Given the description of an element on the screen output the (x, y) to click on. 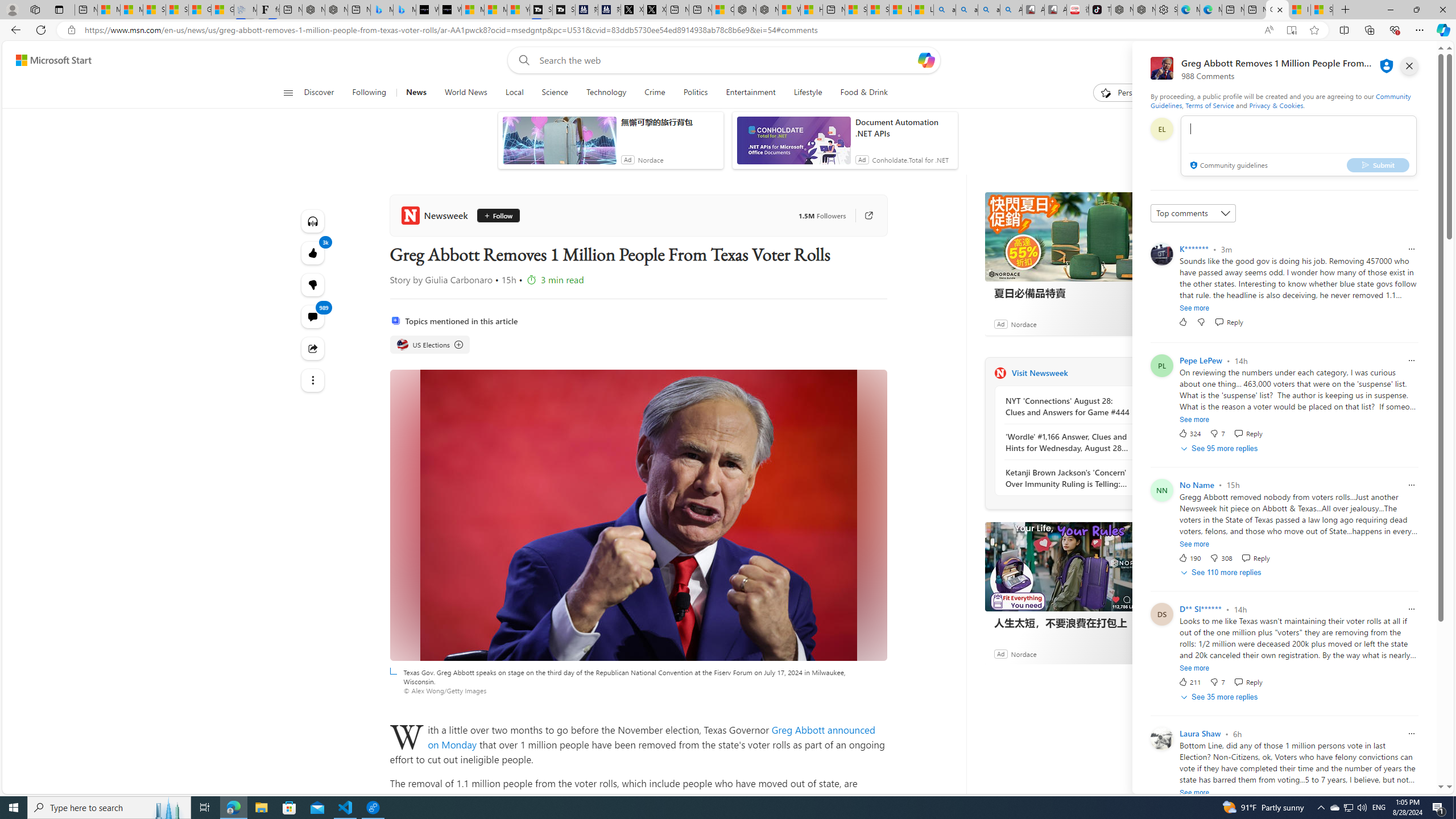
Share this story (312, 348)
Profile Picture (1161, 739)
US Elections (401, 344)
K******* (1193, 248)
Listen to this article (312, 220)
Sort comments by (1193, 212)
